Given the description of an element on the screen output the (x, y) to click on. 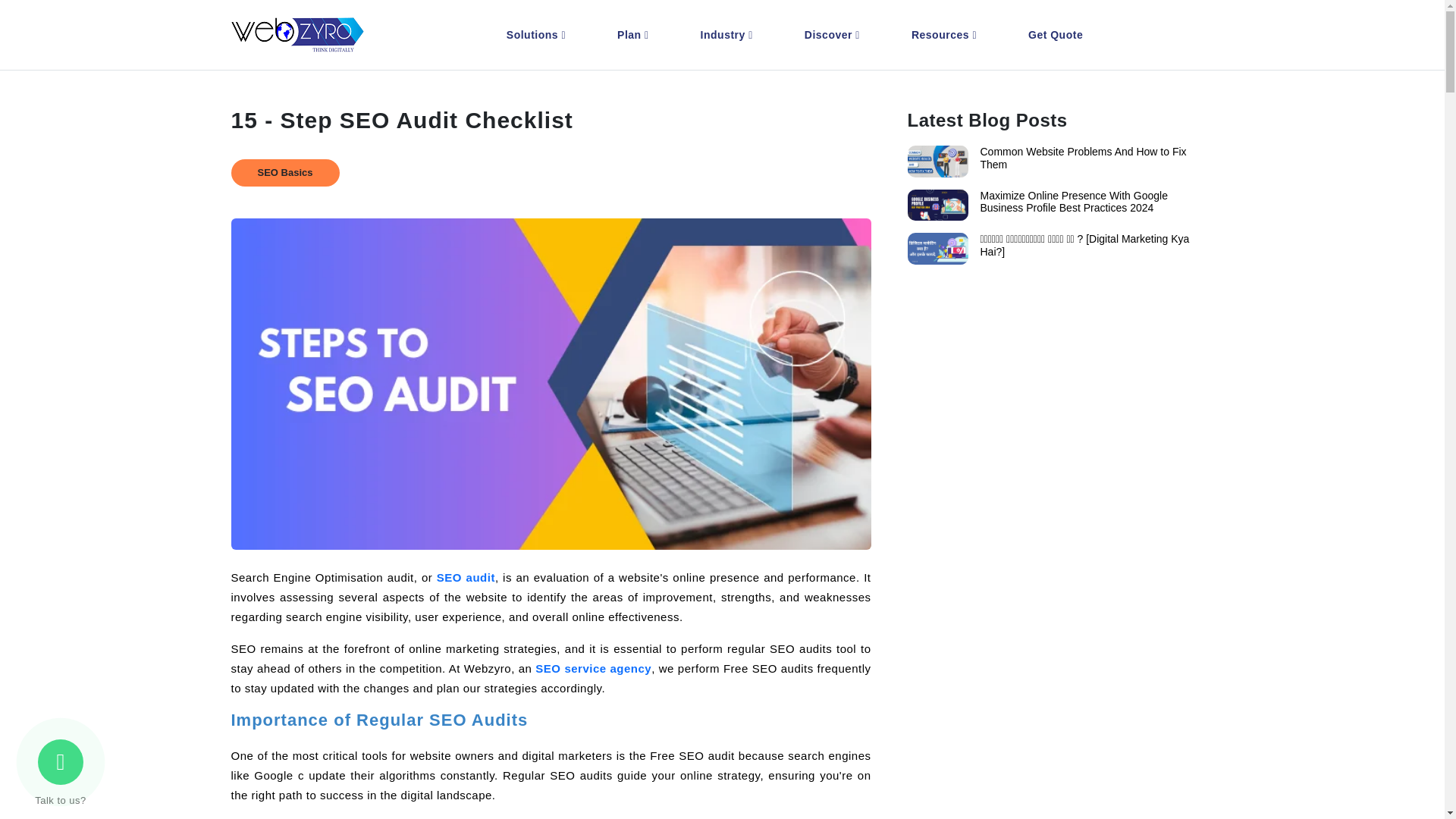
Resources (947, 35)
Industry (729, 35)
Discover (834, 35)
Solutions (538, 35)
Plan (636, 35)
